Given the description of an element on the screen output the (x, y) to click on. 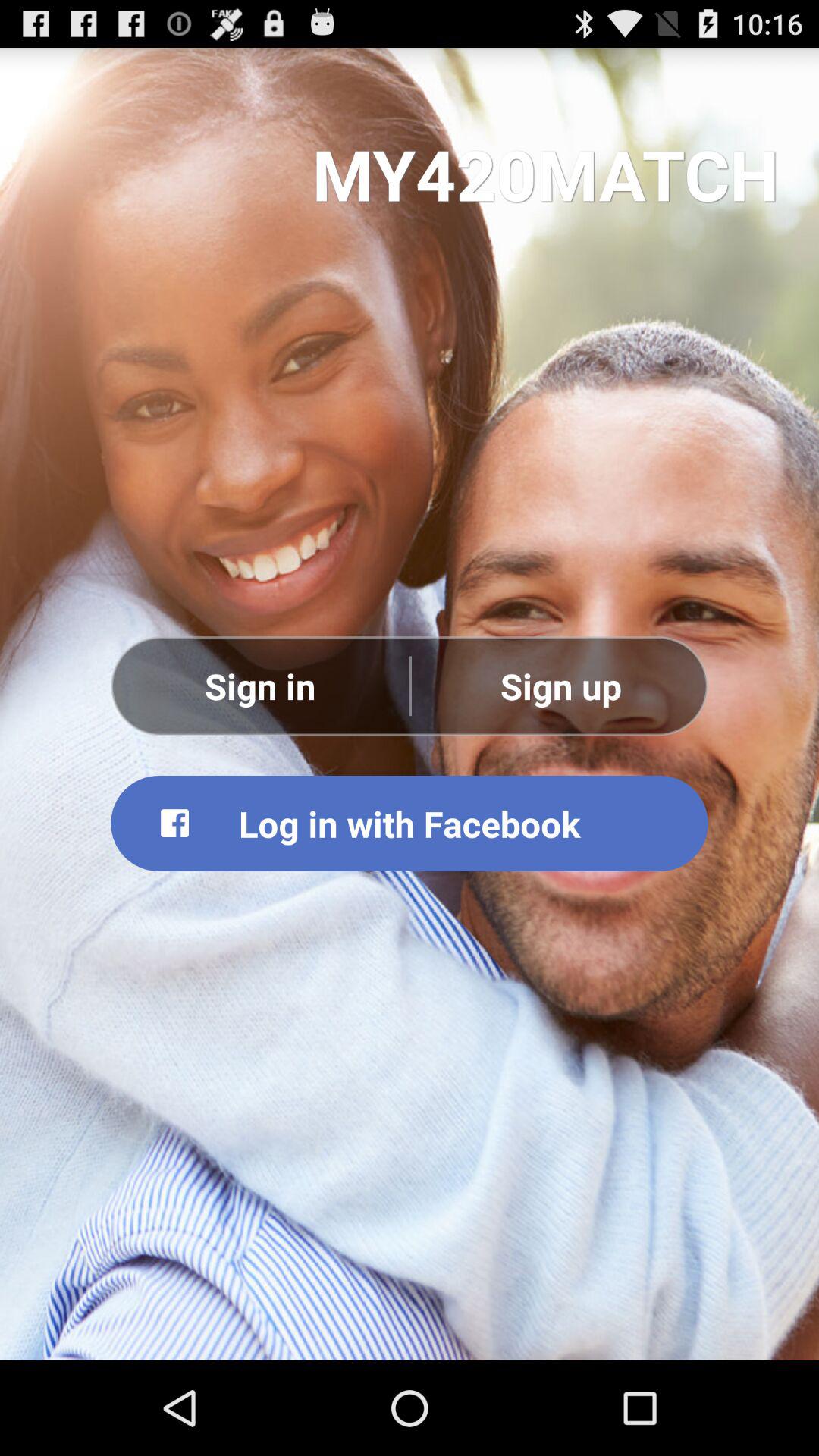
scroll until log in with icon (409, 823)
